Given the description of an element on the screen output the (x, y) to click on. 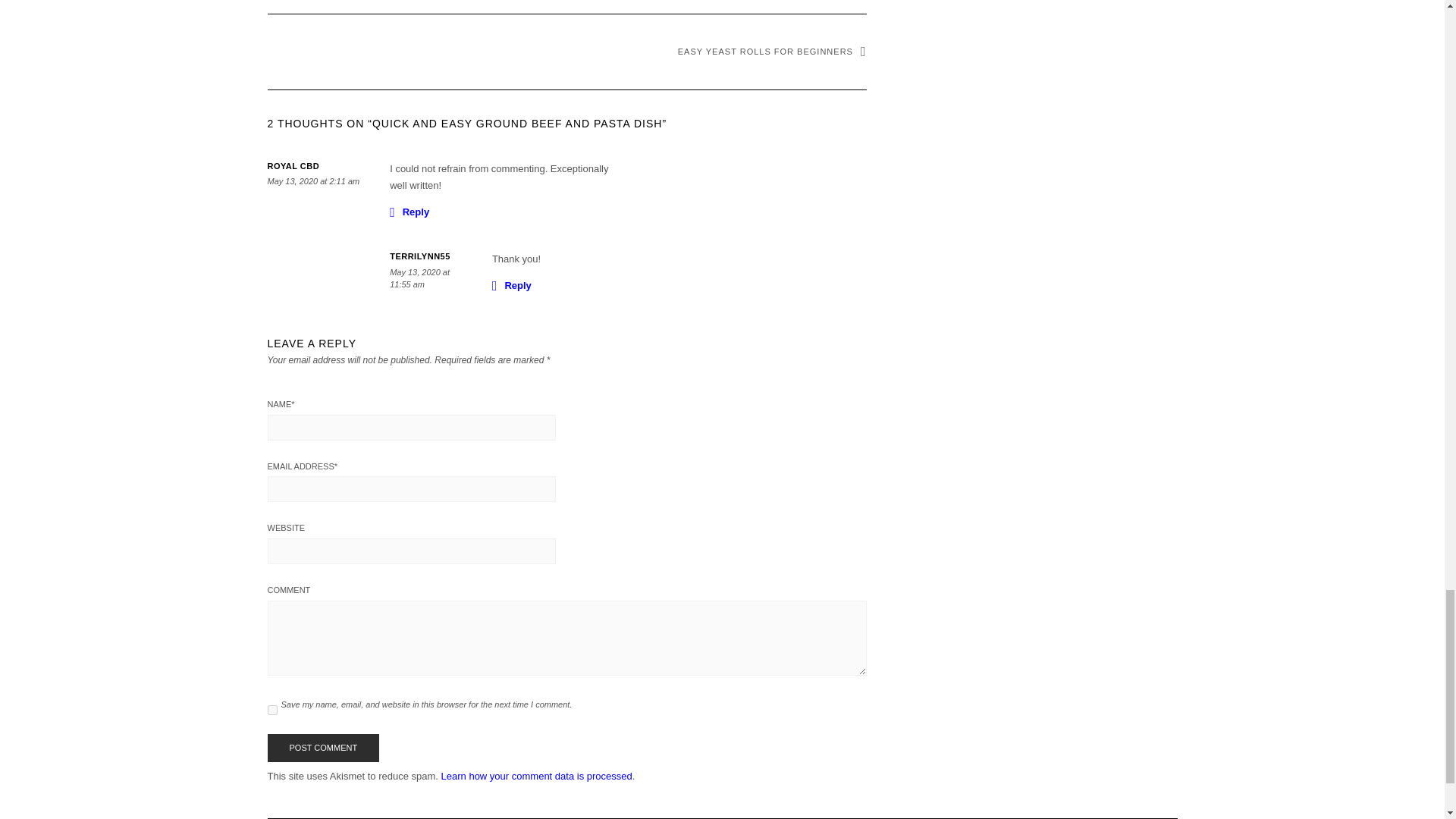
Post Comment (322, 747)
Reply (409, 211)
May 13, 2020 at 2:11 am (312, 180)
Post Comment (322, 747)
May 13, 2020 at 11:55 am (419, 278)
yes (271, 709)
Learn how your comment data is processed (536, 776)
Reply (511, 284)
EASY YEAST ROLLS FOR BEGINNERS (772, 51)
